Given the description of an element on the screen output the (x, y) to click on. 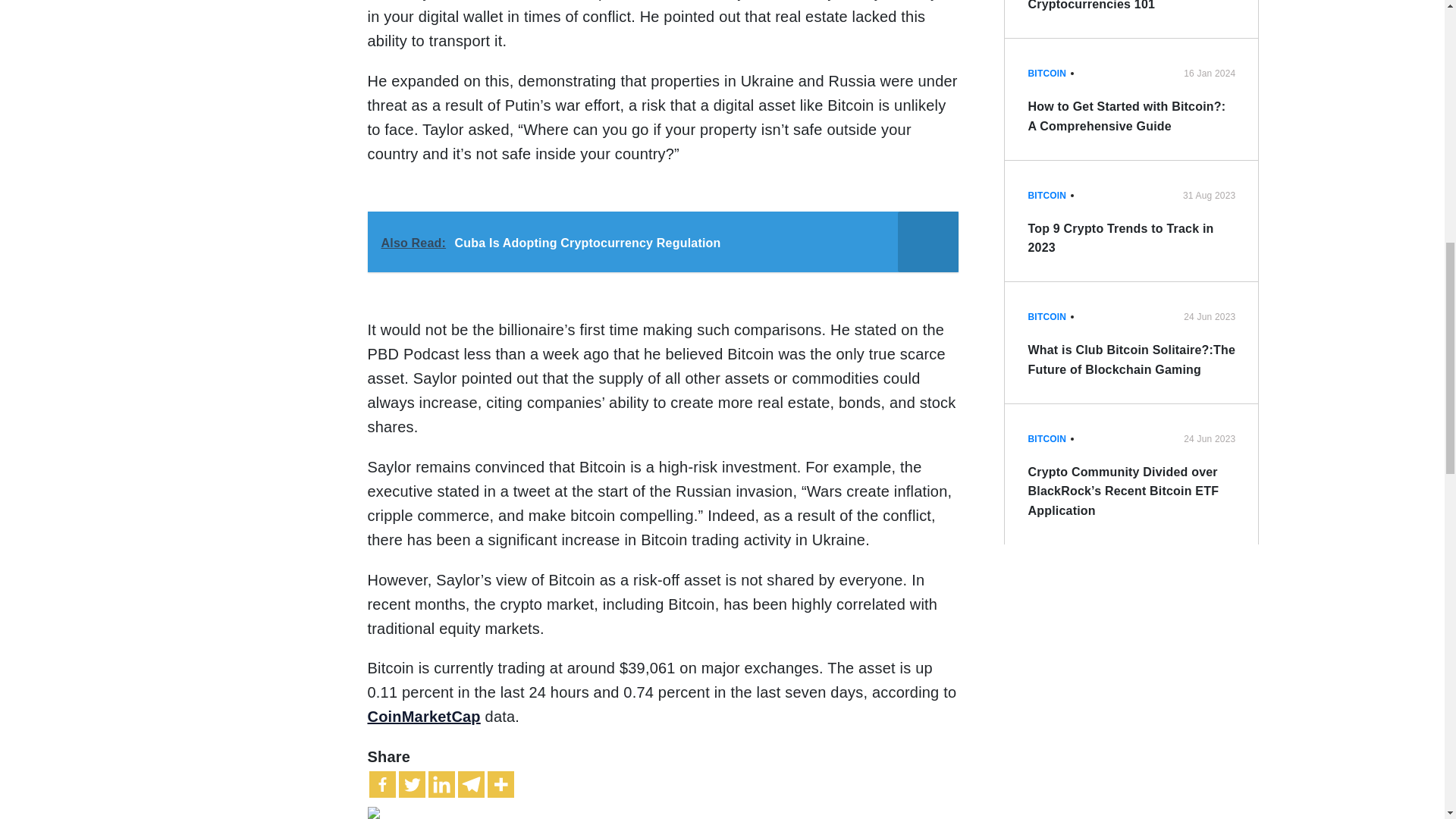
Telegram (471, 784)
Facebook (381, 784)
More (499, 784)
CoinMarketCap (423, 716)
Linkedin (441, 784)
Also Read:  Cuba Is Adopting Cryptocurrency Regulation (662, 241)
Twitter (411, 784)
